Given the description of an element on the screen output the (x, y) to click on. 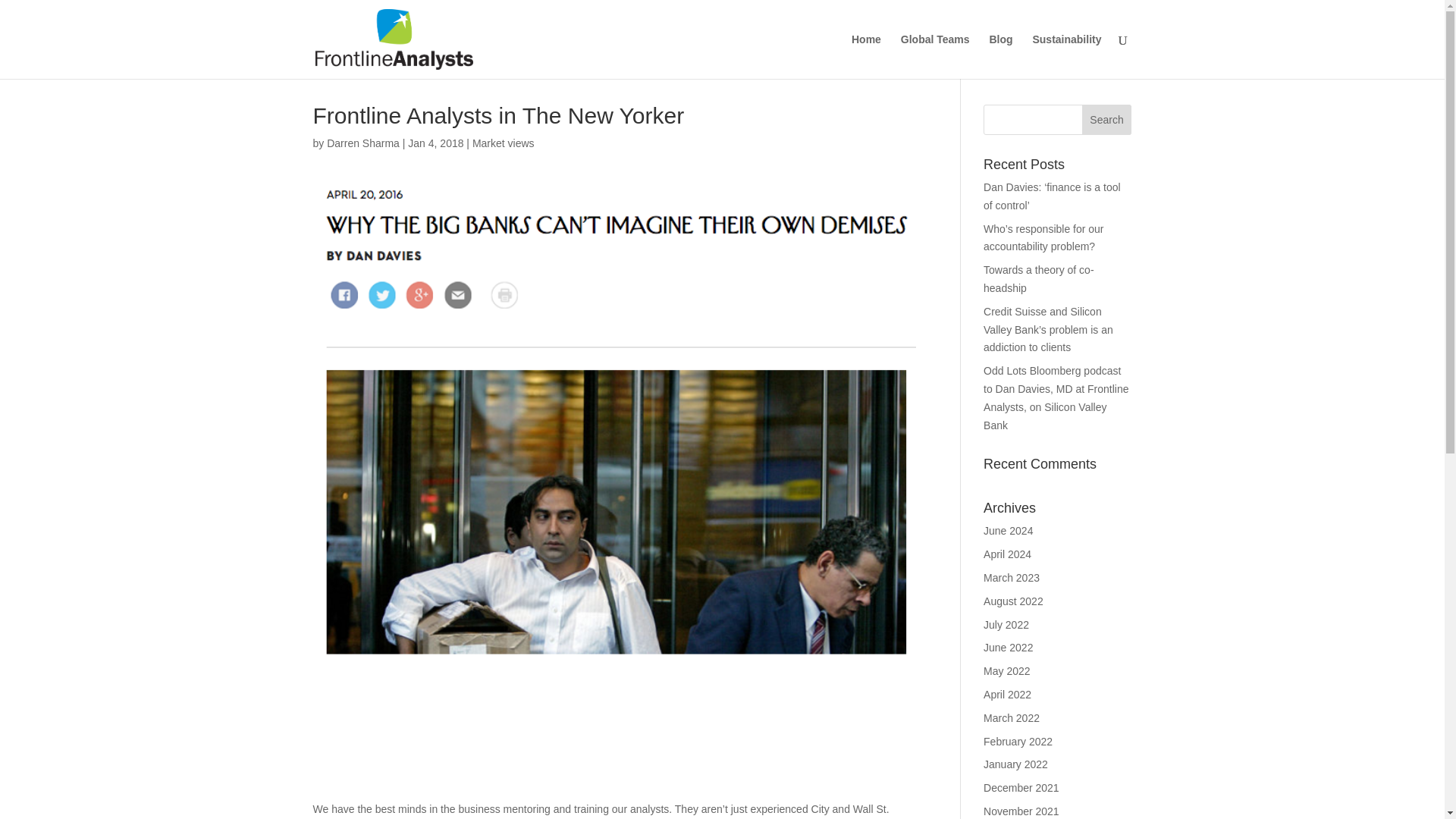
Search (1106, 119)
February 2022 (1018, 741)
Sustainability (1066, 56)
Darren Sharma (362, 143)
May 2022 (1006, 671)
April 2024 (1007, 553)
Search (1106, 119)
July 2022 (1006, 624)
March 2023 (1011, 577)
